Given the description of an element on the screen output the (x, y) to click on. 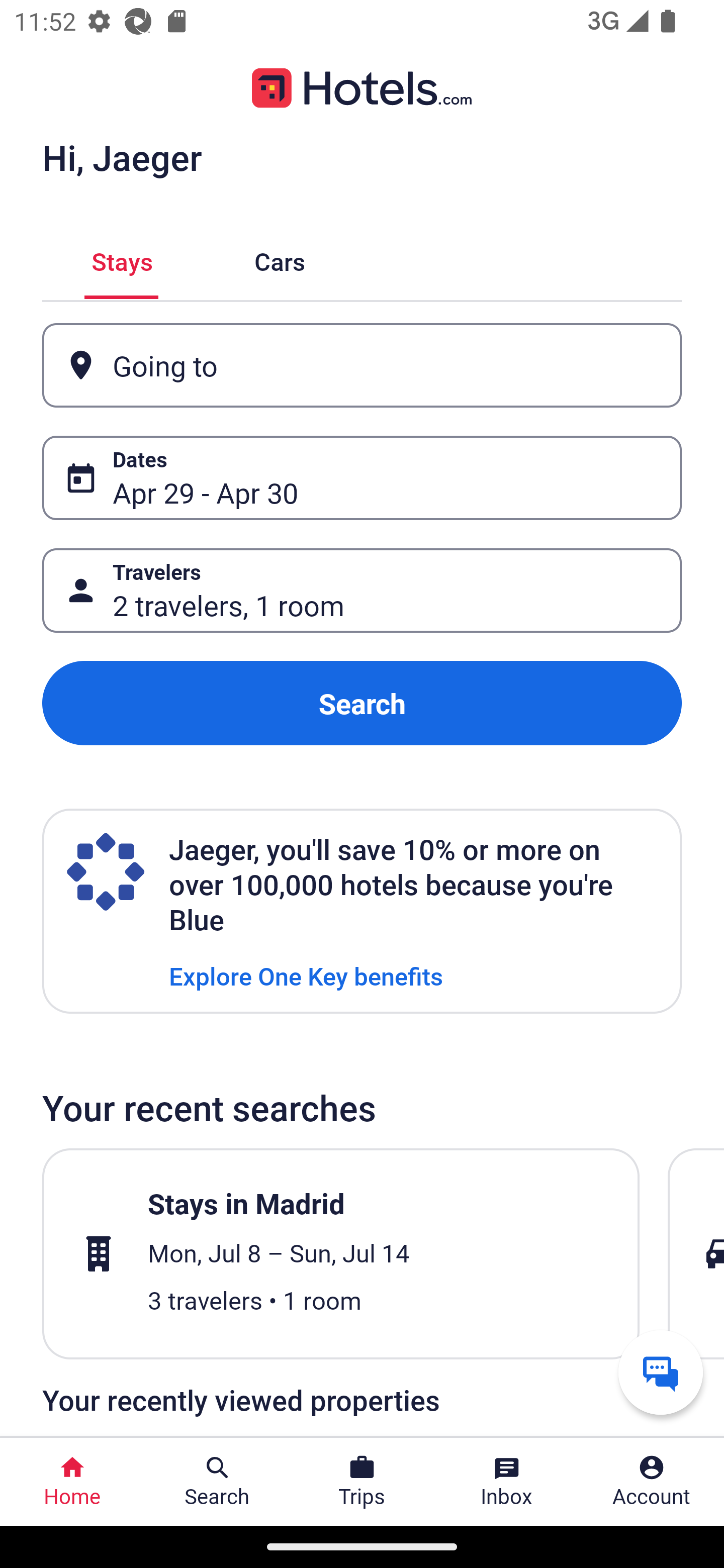
Hi, Jaeger (121, 156)
Cars (279, 259)
Going to Button (361, 365)
Dates Button Apr 29 - Apr 30 (361, 477)
Travelers Button 2 travelers, 1 room (361, 590)
Search (361, 702)
Get help from a virtual agent (660, 1371)
Search Search Button (216, 1481)
Trips Trips Button (361, 1481)
Inbox Inbox Button (506, 1481)
Account Profile. Button (651, 1481)
